Given the description of an element on the screen output the (x, y) to click on. 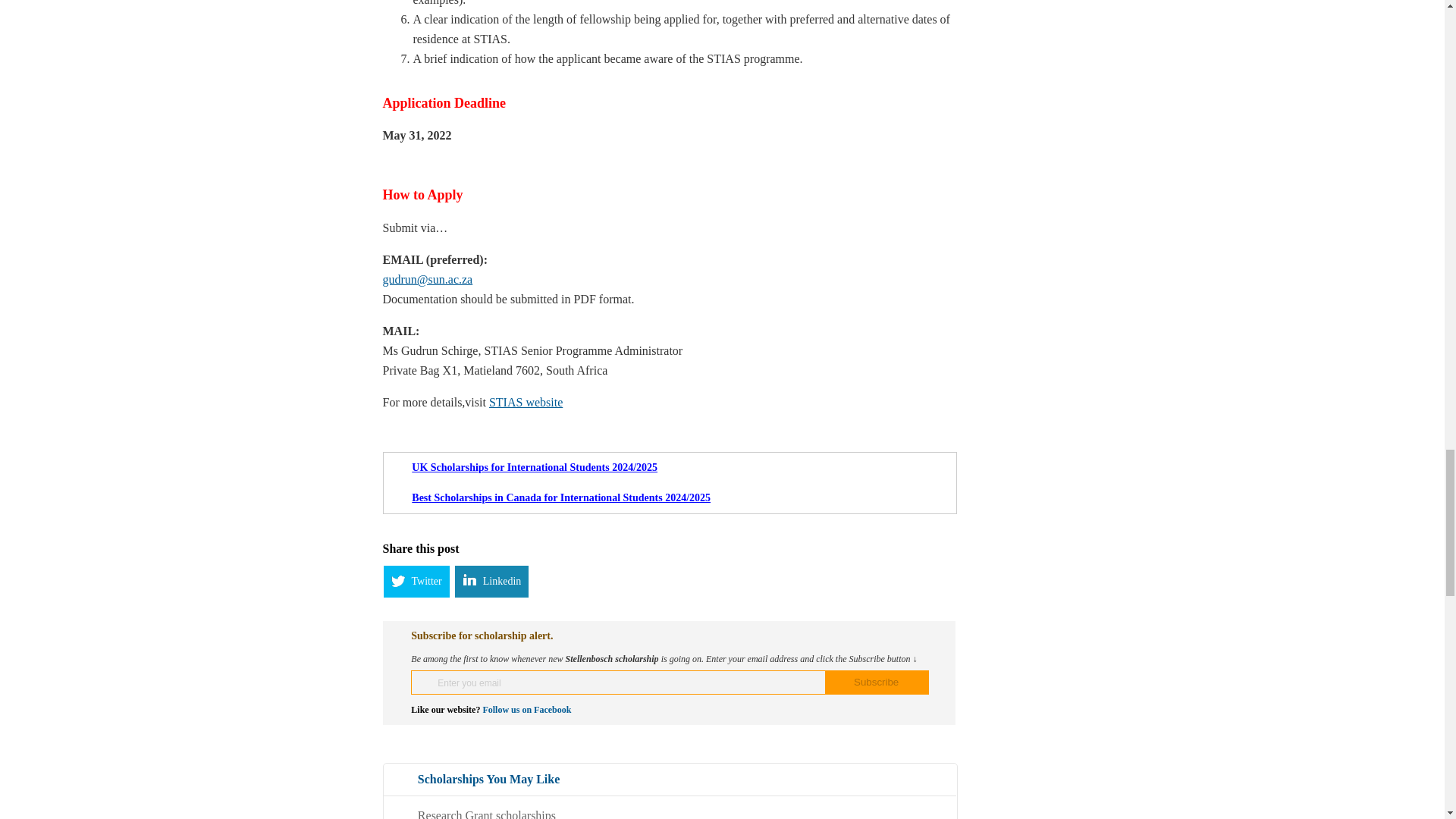
Share on Twitter  (415, 581)
Research Grant scholarships (486, 812)
Linkedin (491, 581)
STIAS website (525, 401)
Subscribe (876, 681)
Subscribe (876, 681)
Share on Linkedin (491, 581)
Twitter (415, 581)
Follow us on Facebook (525, 709)
